Given the description of an element on the screen output the (x, y) to click on. 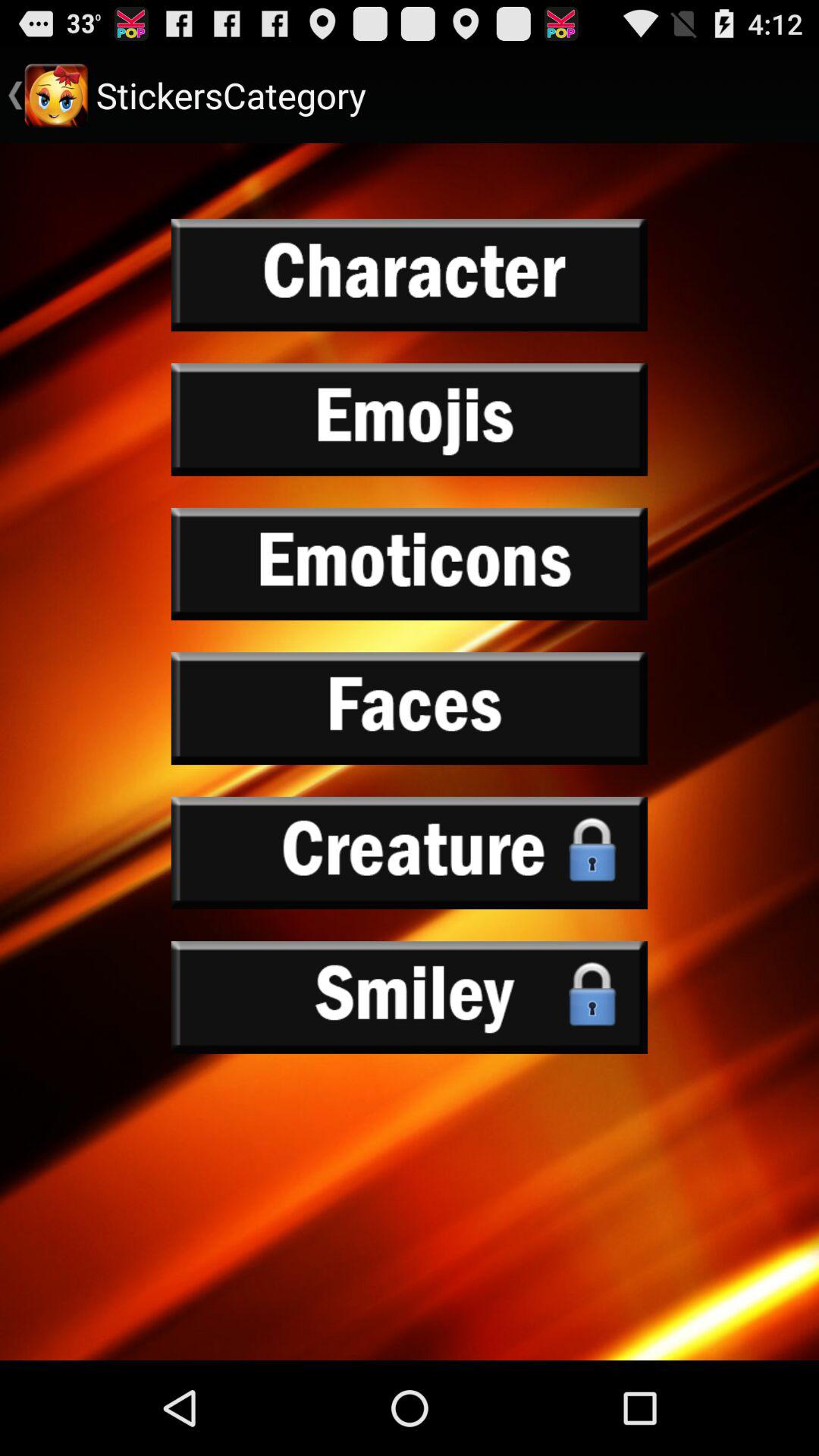
emojis (409, 419)
